Given the description of an element on the screen output the (x, y) to click on. 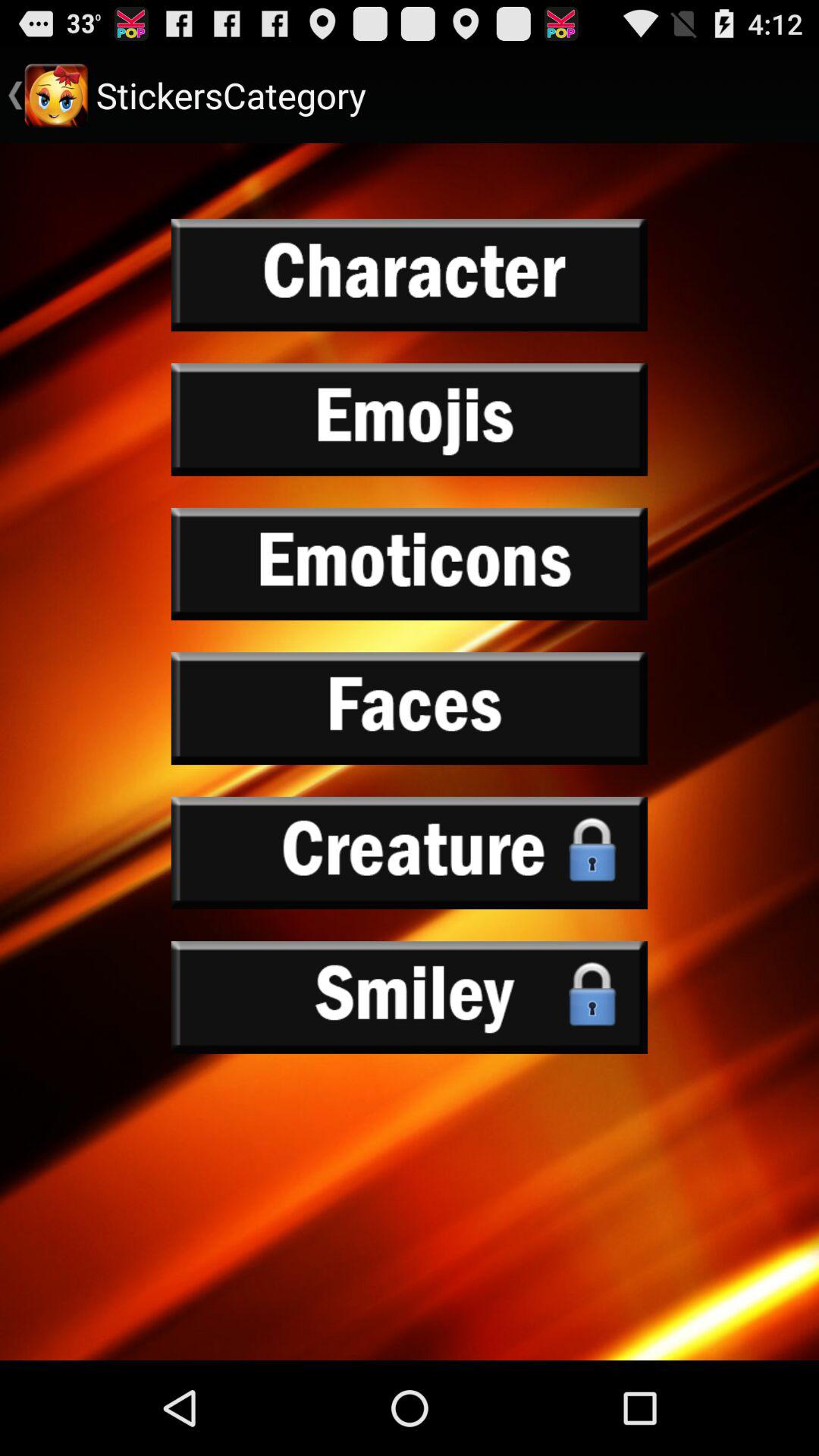
emojis (409, 419)
